Given the description of an element on the screen output the (x, y) to click on. 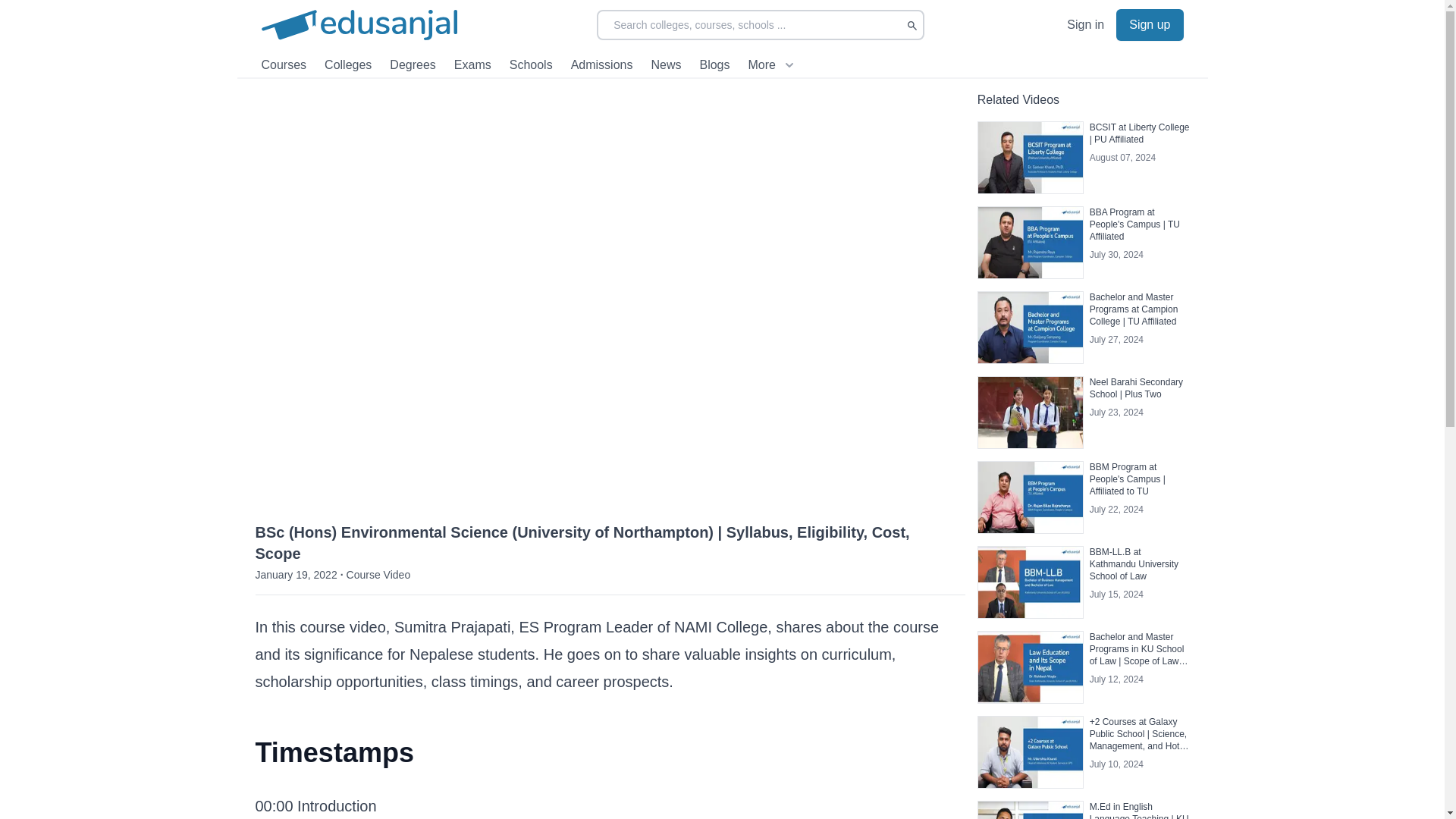
News (665, 65)
Colleges (347, 65)
Blogs (713, 65)
Exams (473, 65)
Admissions (601, 65)
Edusanjal (358, 24)
Sign up (1149, 24)
Sign in (1085, 24)
Courses (282, 65)
Schools (531, 65)
